Given the description of an element on the screen output the (x, y) to click on. 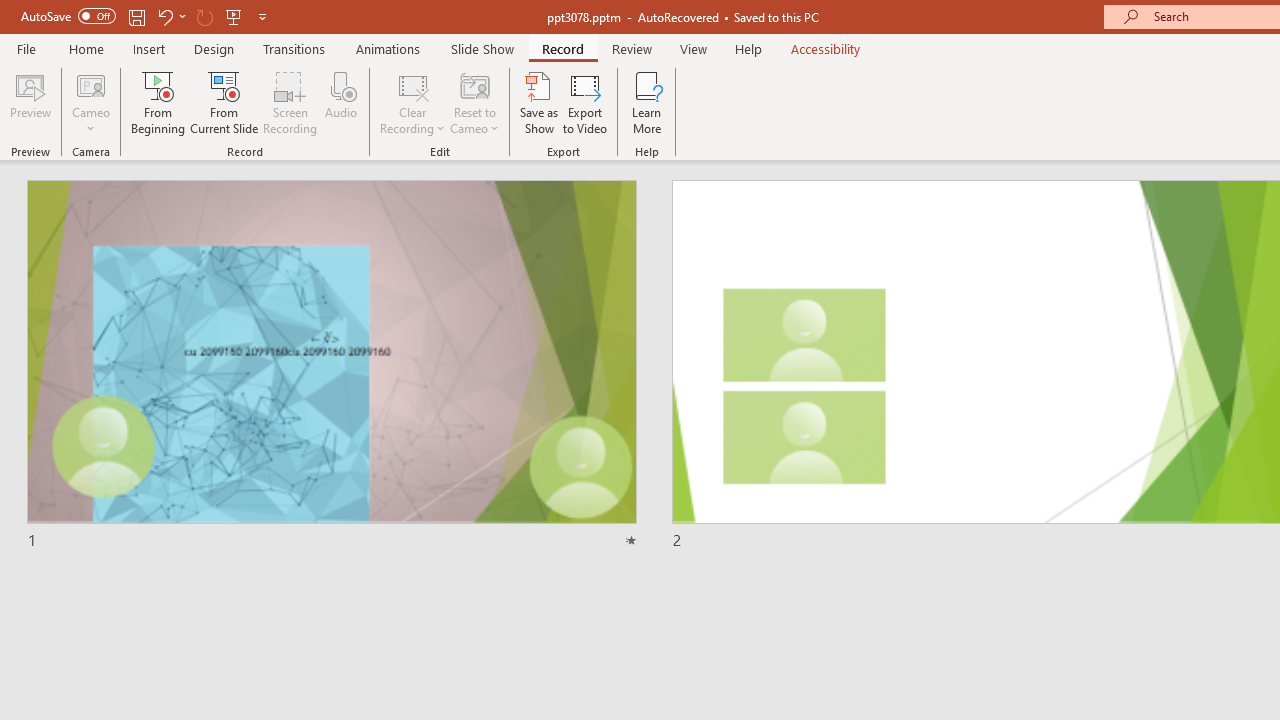
Screen Recording (290, 102)
Reset to Cameo (474, 102)
Clear Recording (412, 102)
From Beginning... (158, 102)
Save as Show (539, 102)
